Given the description of an element on the screen output the (x, y) to click on. 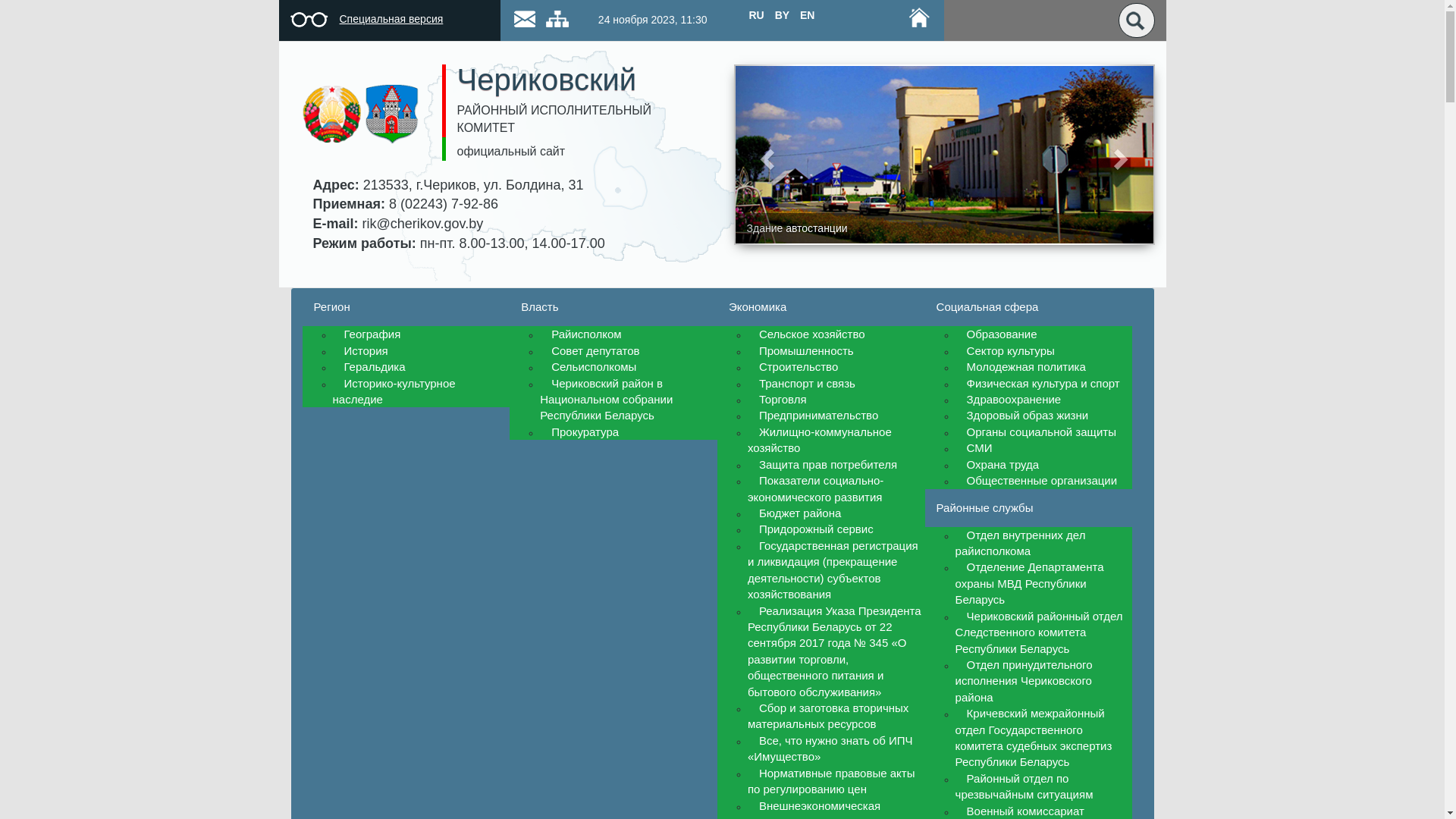
BY Element type: text (782, 15)
RU Element type: text (755, 15)
EN Element type: text (807, 15)
